Given the description of an element on the screen output the (x, y) to click on. 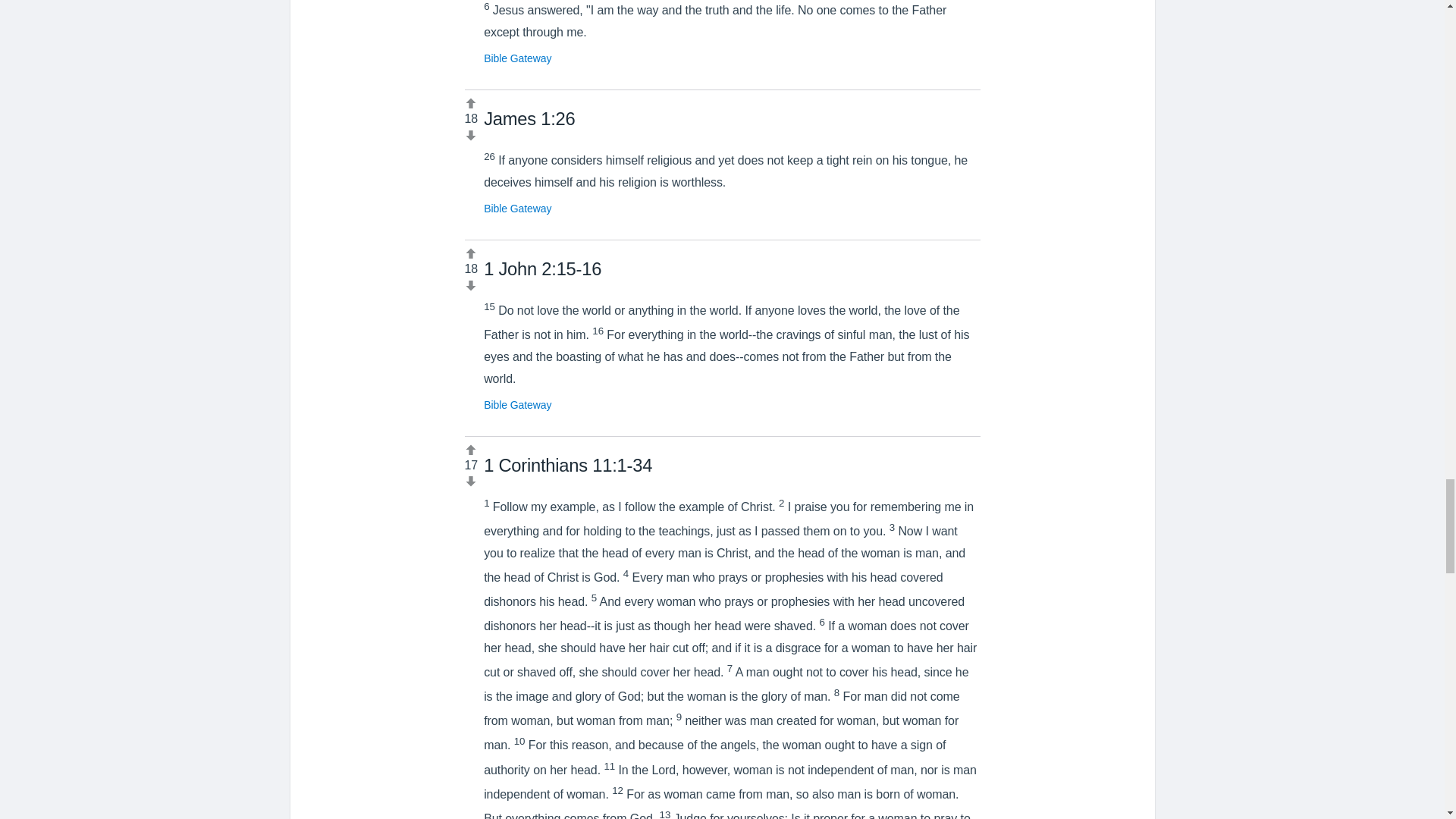
Bible Gateway (517, 404)
Bible Gateway (517, 58)
Bible Gateway (517, 208)
